Given the description of an element on the screen output the (x, y) to click on. 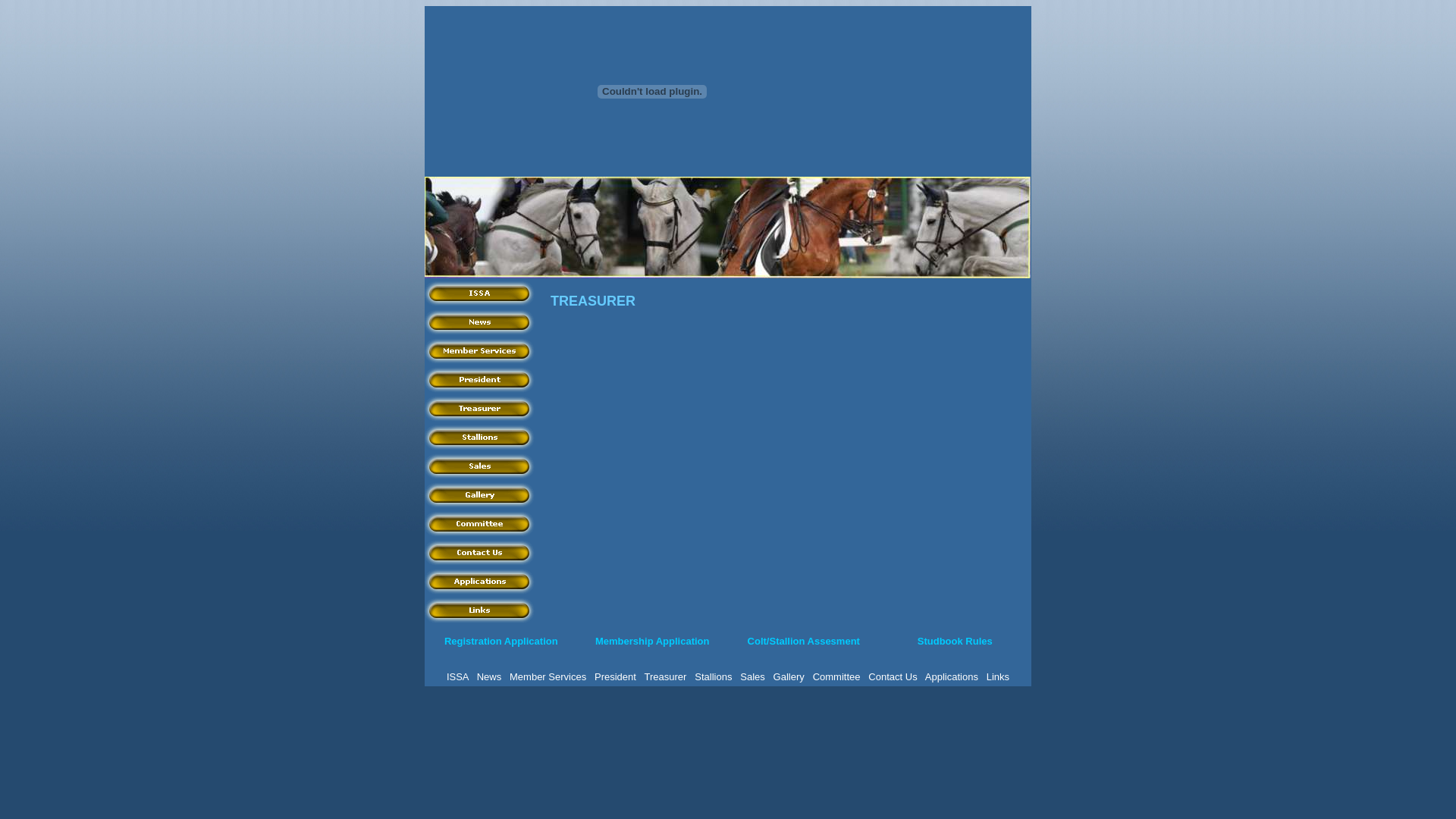
Gallery Element type: hover (479, 494)
Contact Us Element type: text (892, 676)
Committee Element type: hover (479, 522)
Links Element type: hover (479, 609)
ISSA Element type: hover (479, 292)
Sales Element type: text (752, 676)
News Element type: text (489, 676)
Member Services Element type: hover (479, 349)
Membership Application Element type: text (652, 640)
Applications Element type: hover (479, 580)
Applications Element type: text (951, 676)
News Element type: hover (479, 321)
Treasurer Element type: hover (479, 407)
Member Services Element type: text (547, 676)
President Element type: text (615, 676)
Committee Element type: text (836, 676)
Stallions Element type: text (712, 676)
Links Element type: text (997, 676)
Registration Application Element type: text (501, 640)
Contact Us Element type: hover (479, 551)
President Element type: hover (479, 378)
Colt/Stallion Assesment Element type: text (803, 640)
picture stick Element type: hover (727, 227)
Stallions Element type: hover (479, 436)
Treasurer Element type: text (665, 676)
Studbook Rules Element type: text (954, 640)
ISSA Element type: text (457, 676)
Gallery Element type: text (788, 676)
Sales Element type: hover (479, 465)
